Given the description of an element on the screen output the (x, y) to click on. 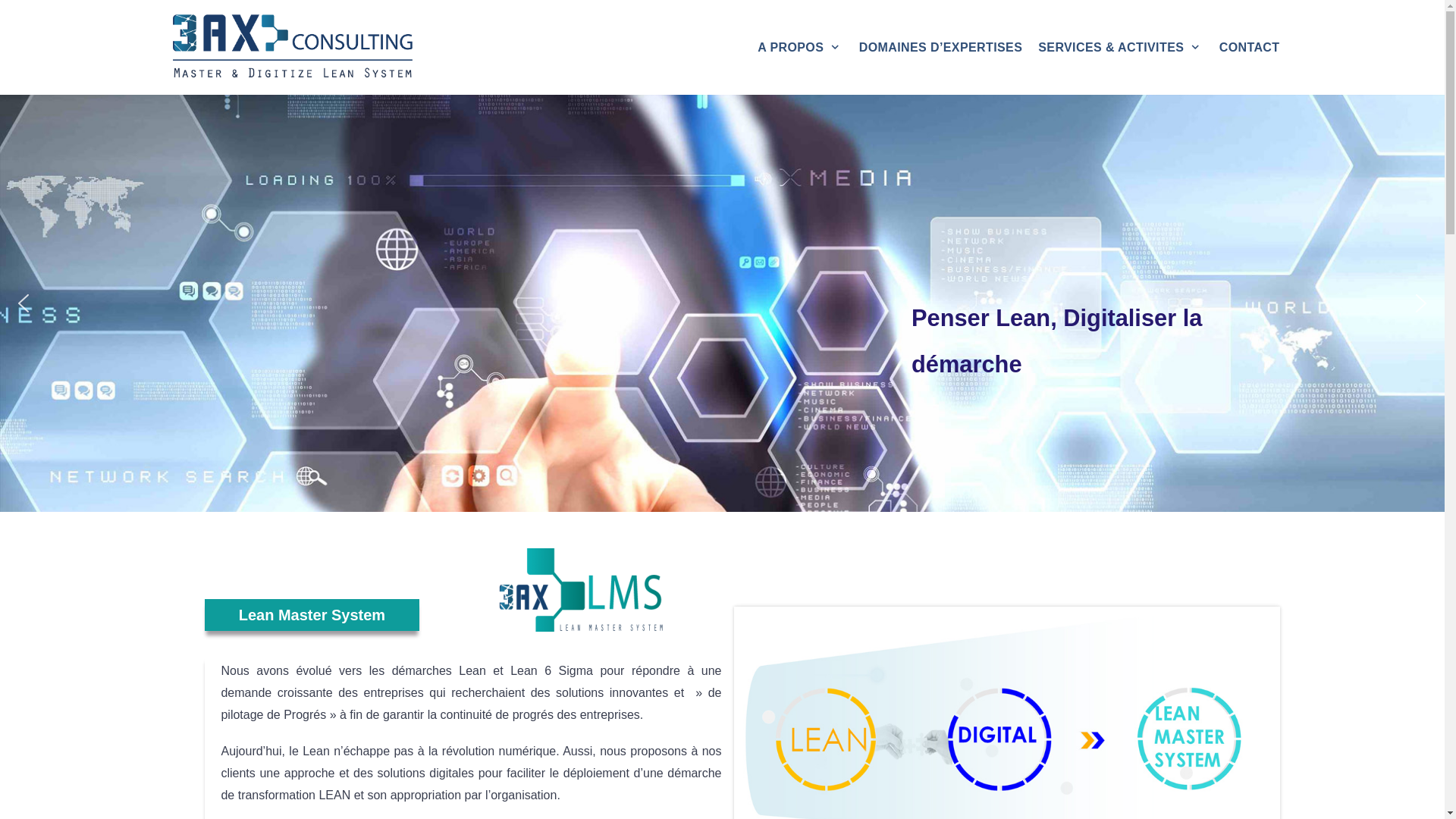
A PROPOS Element type: text (799, 47)
CONTACT Element type: text (1249, 47)
troisaxesConsulting Element type: hover (288, 47)
Aller au contenu Element type: text (15, 7)
Logo-LMS Web Element type: hover (579, 589)
SERVICES & ACTIVITES Element type: text (1120, 47)
